Given the description of an element on the screen output the (x, y) to click on. 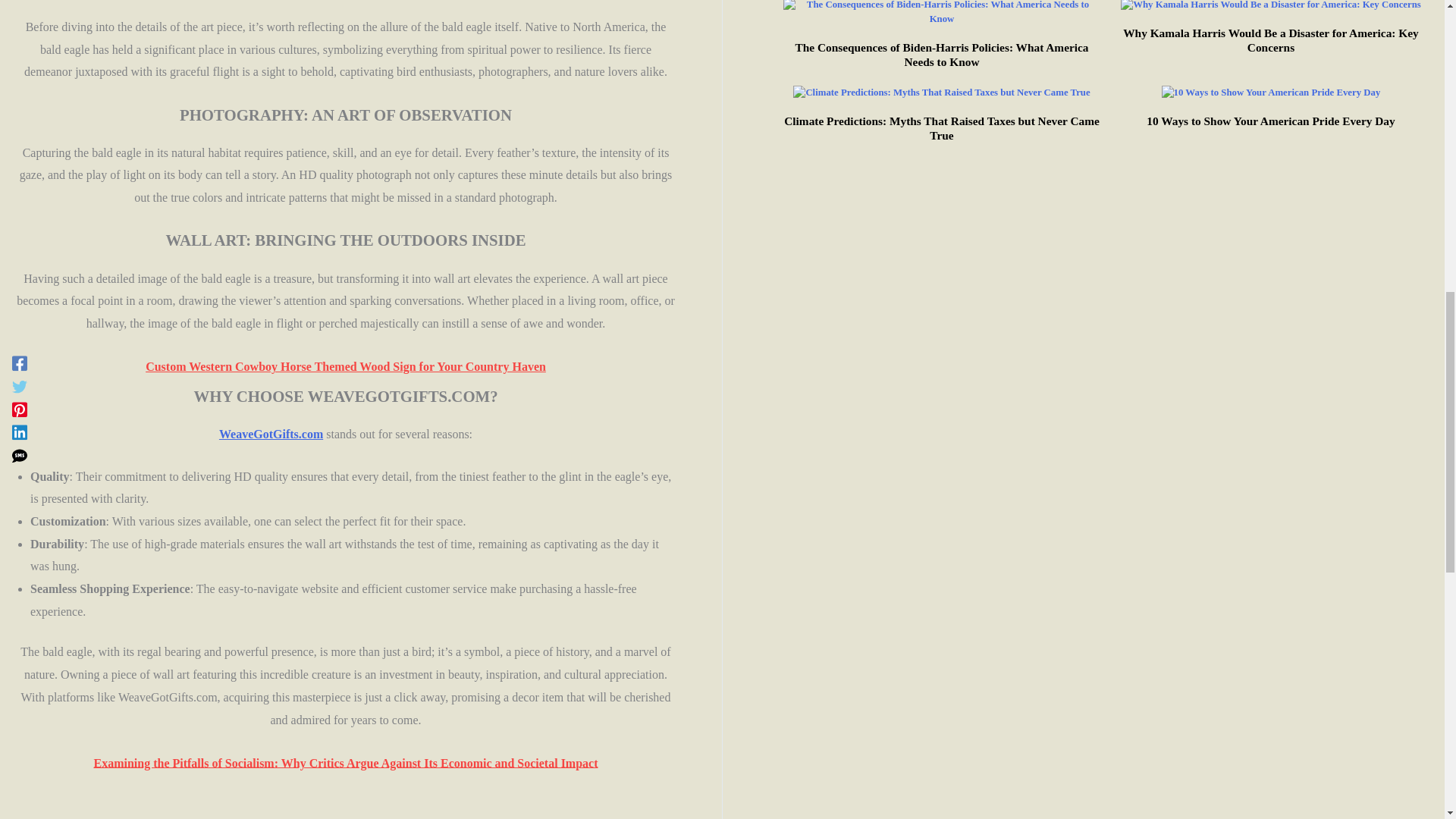
WeaveGotGifts.com (271, 433)
